Given the description of an element on the screen output the (x, y) to click on. 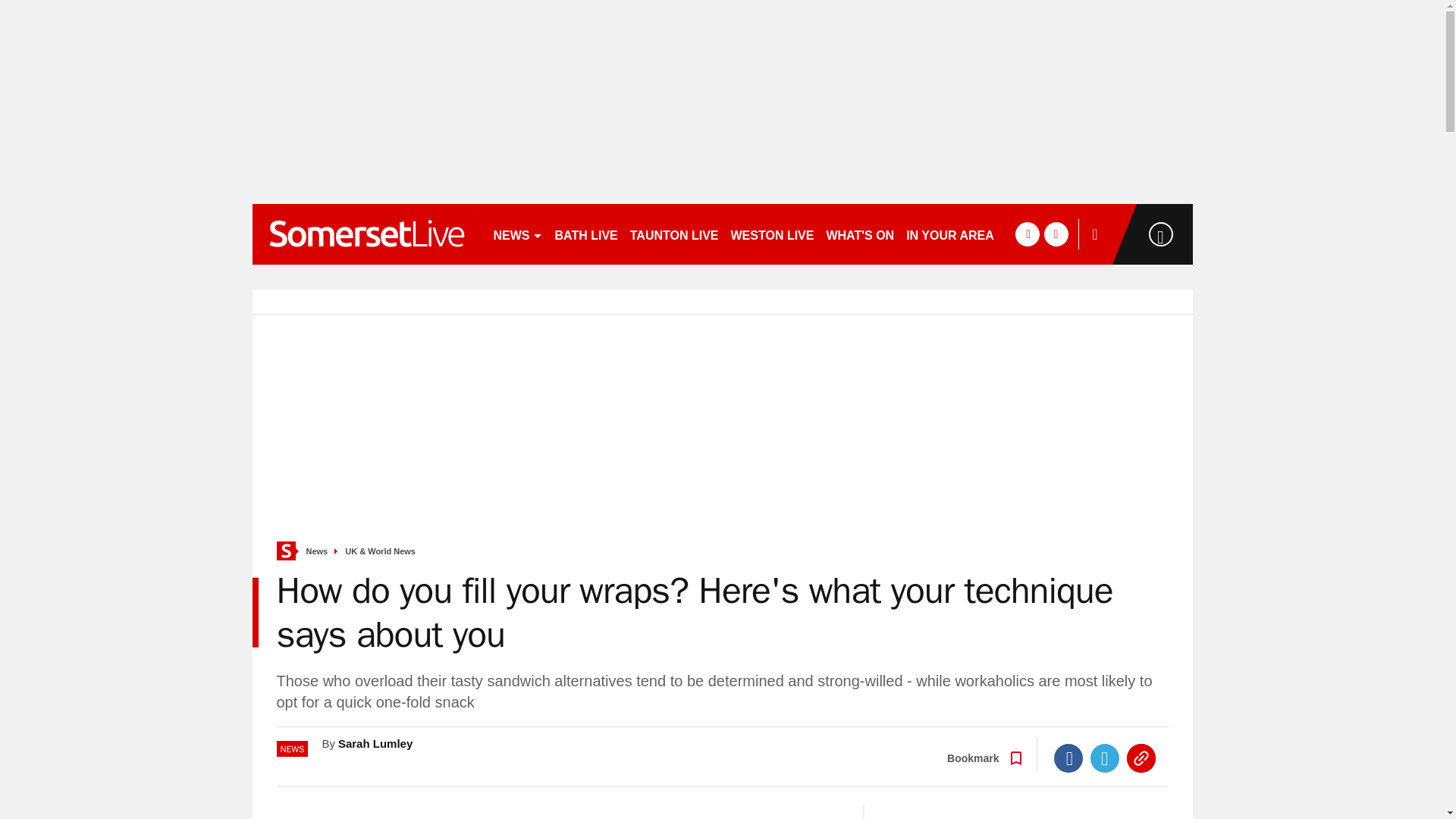
TAUNTON LIVE (674, 233)
facebook (1026, 233)
Facebook (1068, 758)
somersetlive (365, 233)
IN YOUR AREA (949, 233)
BATH LIVE (586, 233)
Twitter (1104, 758)
NEWS (517, 233)
WESTON LIVE (773, 233)
twitter (1055, 233)
